Given the description of an element on the screen output the (x, y) to click on. 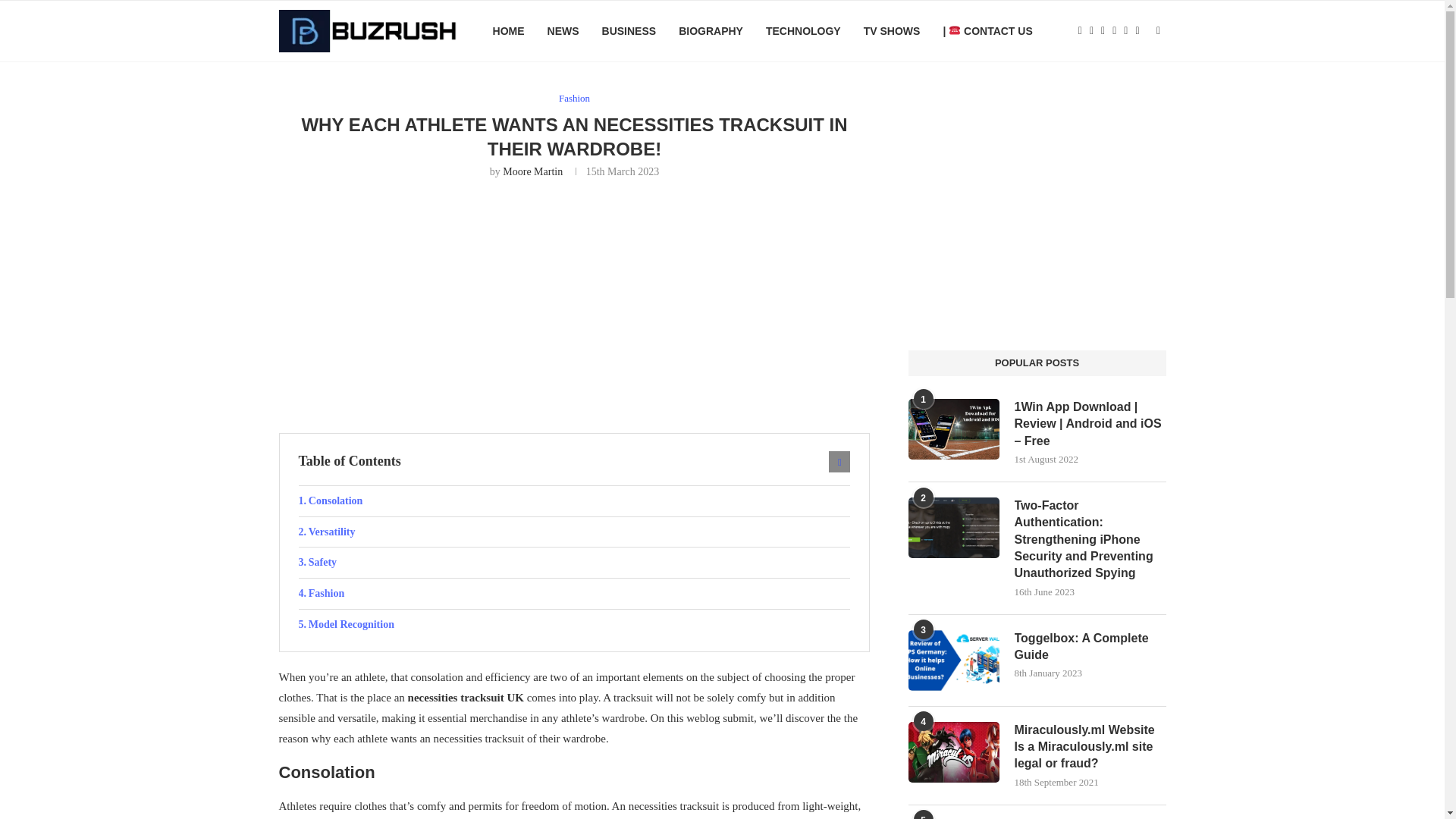
TV SHOWS (891, 30)
Moore Martin (532, 171)
Versatility (574, 531)
BUSINESS (629, 30)
Fashion (574, 98)
TECHNOLOGY (803, 30)
Versatility (574, 531)
Fashion  (574, 593)
Advertisement (574, 304)
Consolation  (574, 501)
Safety  (574, 562)
